Given the description of an element on the screen output the (x, y) to click on. 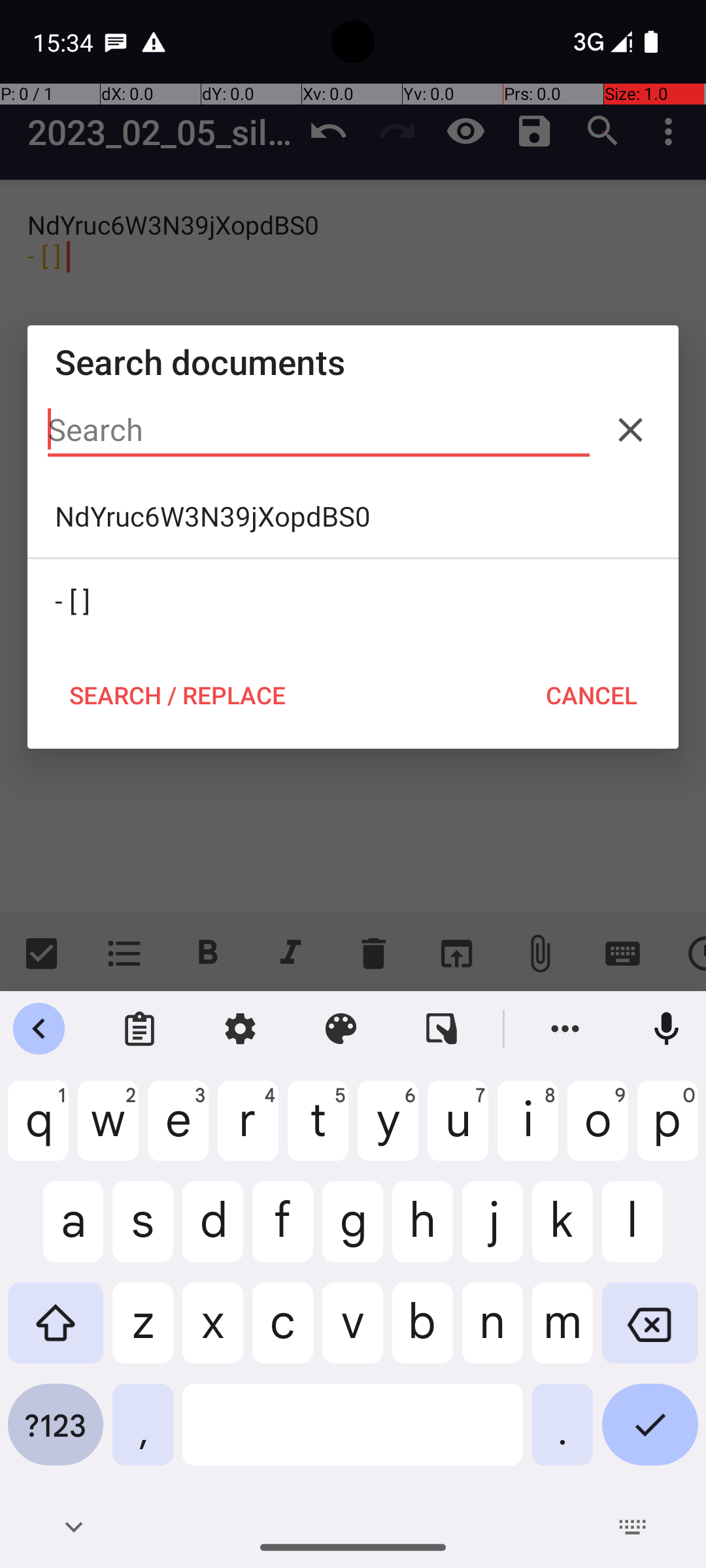
Search documents Element type: android.widget.TextView (352, 361)
NdYruc6W3N39jXopdBS0 Element type: android.widget.TextView (352, 515)
- [ ]  Element type: android.widget.TextView (352, 600)
SEARCH / REPLACE Element type: android.widget.Button (176, 694)
Theme settings Element type: android.widget.FrameLayout (340, 1028)
One handed mode Element type: android.widget.FrameLayout (441, 1028)
Done Element type: android.widget.FrameLayout (649, 1434)
